Given the description of an element on the screen output the (x, y) to click on. 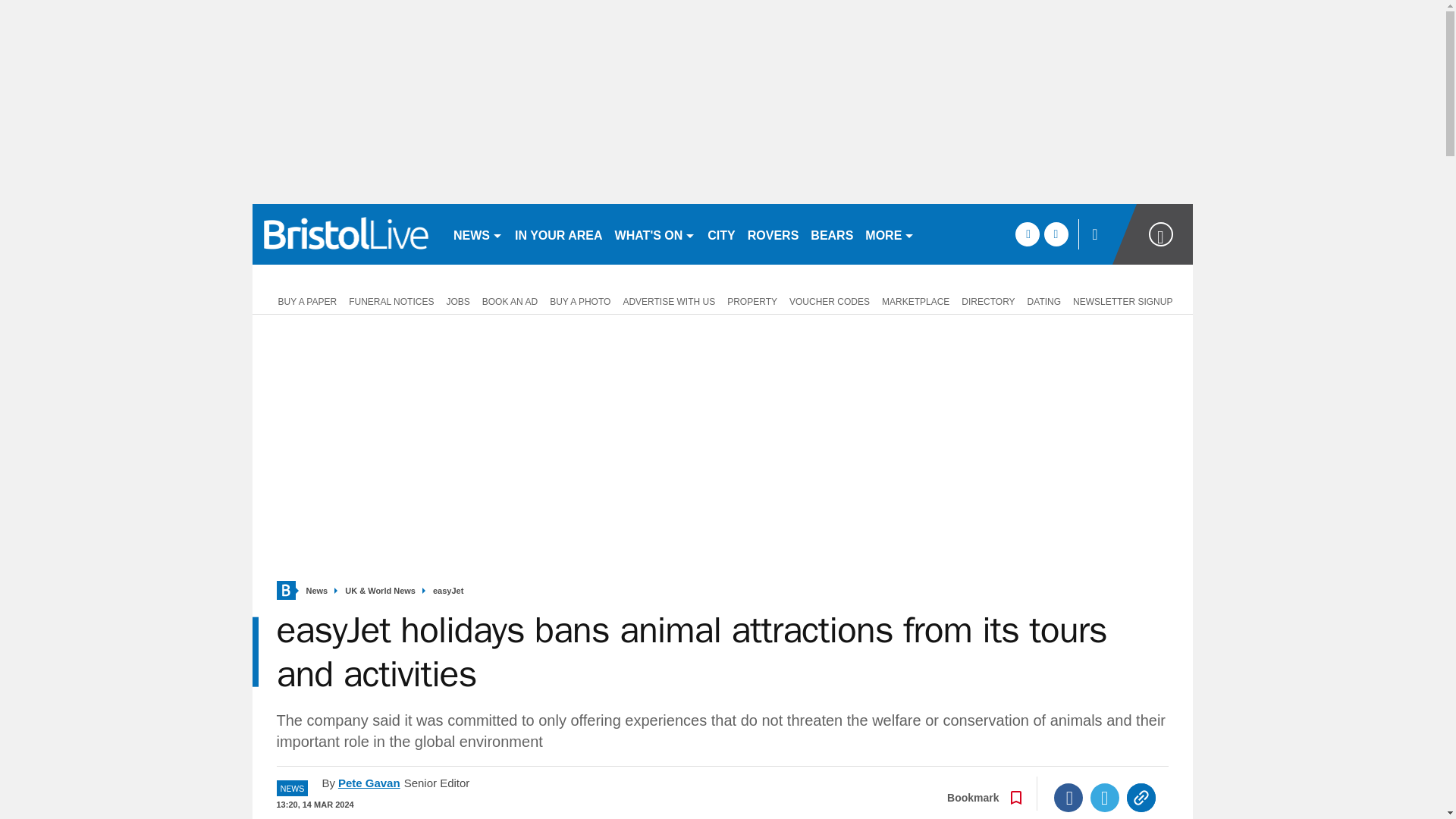
IN YOUR AREA (558, 233)
BEARS (832, 233)
NEWS (477, 233)
WHAT'S ON (654, 233)
ROVERS (773, 233)
MORE (889, 233)
facebook (1026, 233)
bristolpost (345, 233)
twitter (1055, 233)
Twitter (1104, 797)
Facebook (1068, 797)
